Given the description of an element on the screen output the (x, y) to click on. 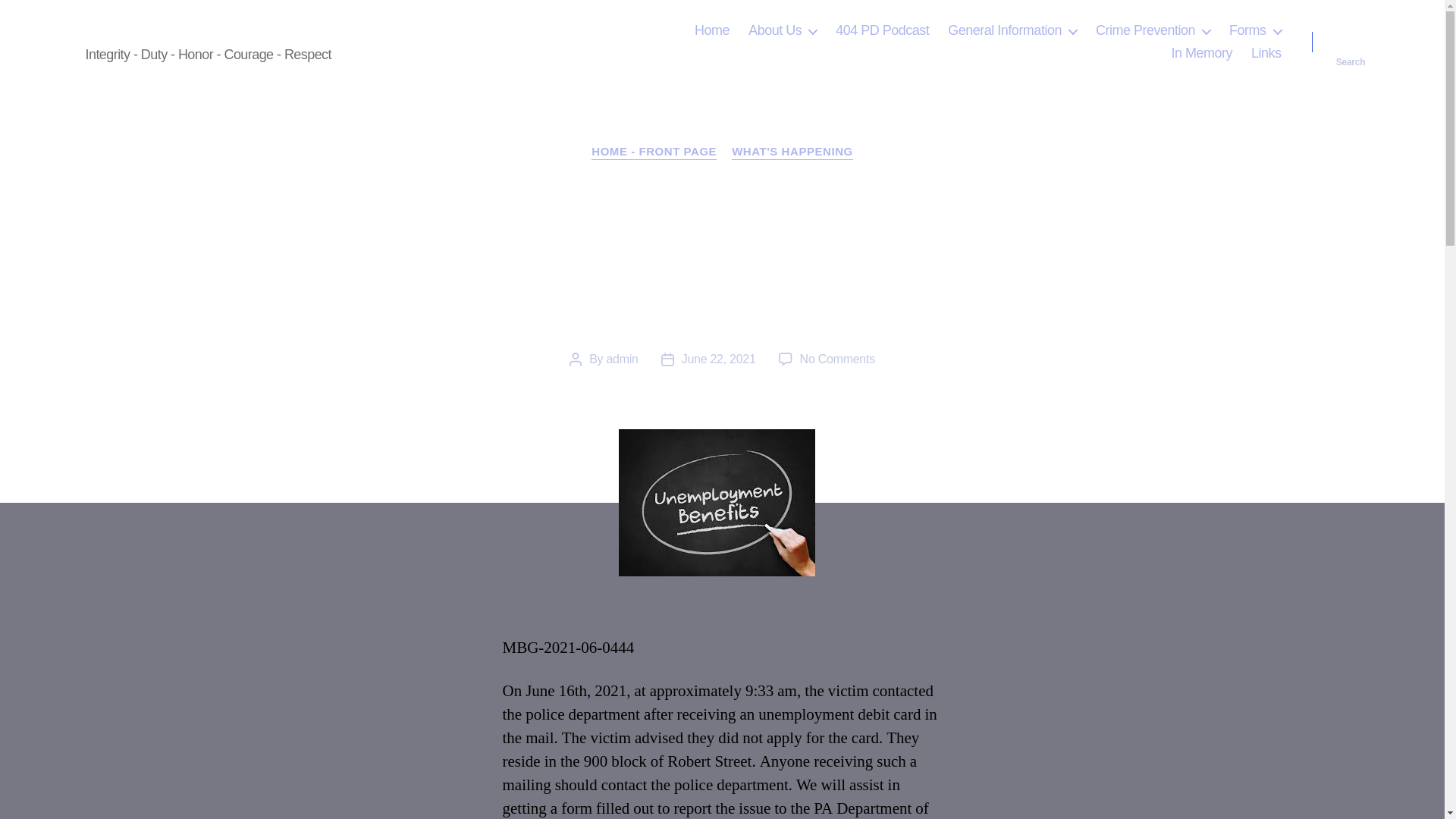
Search (1350, 41)
Links (1265, 53)
Crime Prevention (1152, 30)
Home (711, 30)
In Memory (1200, 53)
404 PD Podcast (881, 30)
Mechanicsburg Police Department (221, 30)
General Information (1012, 30)
Forms (1254, 30)
About Us (782, 30)
